Given the description of an element on the screen output the (x, y) to click on. 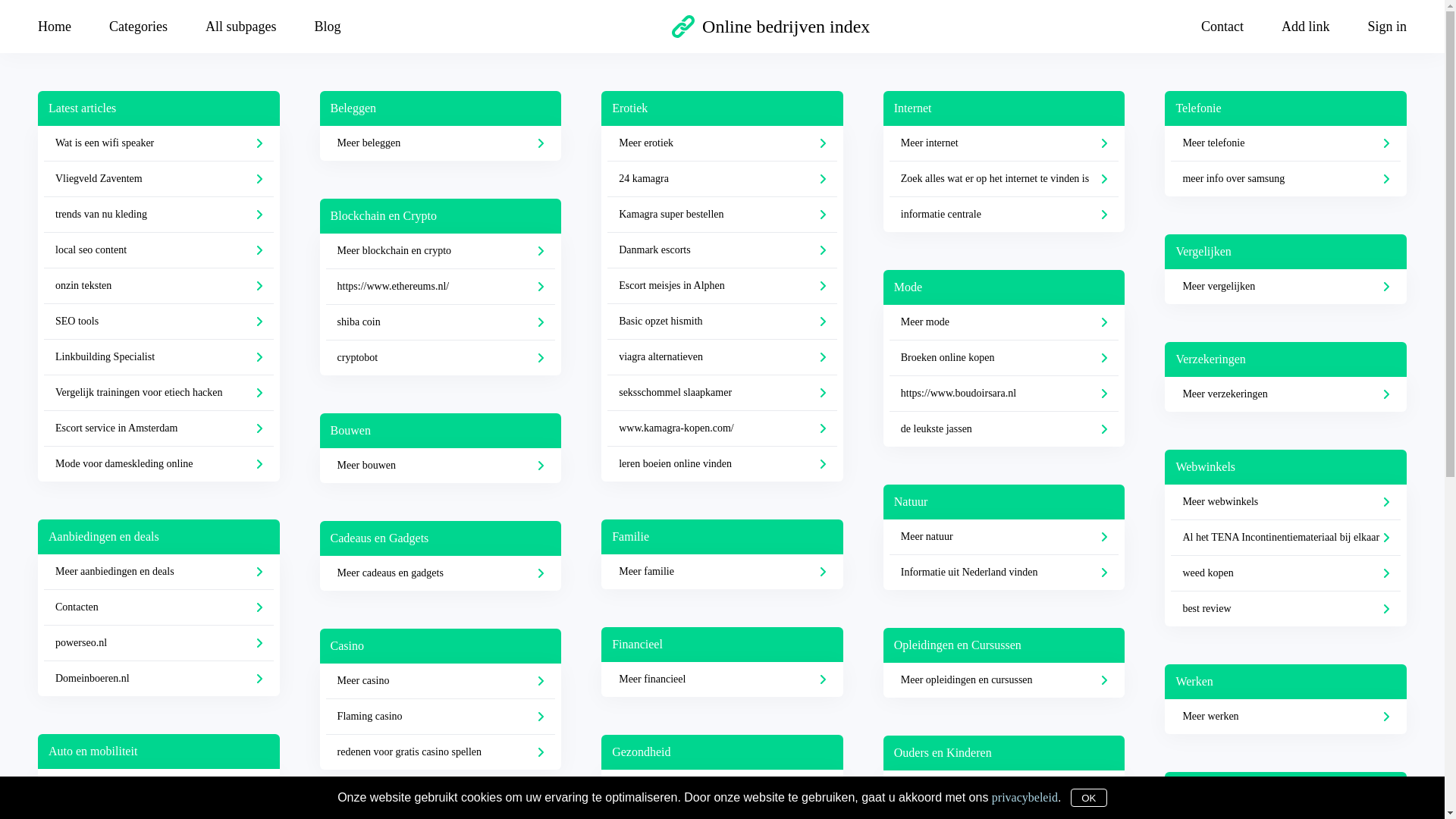
Meer blockchain en crypto Element type: text (440, 251)
Meer verzekeringen Element type: text (1285, 393)
Meer casino Element type: text (440, 681)
meer info over samsung Element type: text (1285, 178)
Contacten Element type: text (158, 607)
Meer webwinkels Element type: text (1285, 502)
Blog Element type: text (326, 25)
SEO tools Element type: text (158, 321)
trends van nu kleding Element type: text (158, 214)
Terms & Conditions Element type: text (768, 803)
Contact Element type: text (1222, 25)
powerseo.nl Element type: text (158, 643)
weed kopen Element type: text (1285, 573)
Escort meisjes in Alphen Element type: text (722, 286)
Informatie uit Nederland vinden Element type: text (1004, 572)
Meer bouwen Element type: text (440, 465)
Meer telefonie Element type: text (1285, 143)
cryptobot Element type: text (440, 357)
Meer internet Element type: text (1004, 143)
redenen voor gratis casino spellen Element type: text (440, 751)
www.kamagra-kopen.com/ Element type: text (722, 428)
Home Element type: text (63, 25)
OK Element type: text (1088, 797)
viagra alternatieven Element type: text (722, 357)
Flaming casino Element type: text (440, 716)
Meer vergelijken Element type: text (1285, 286)
Al het TENA Incontinentiemateriaal bij elkaar Element type: text (1285, 537)
Meer natuur Element type: text (1004, 537)
Online bedrijven index Element type: text (770, 26)
Wat is een wifi speaker Element type: text (158, 143)
leren boeien online vinden Element type: text (722, 463)
informatie centrale Element type: text (1004, 214)
Categories Element type: text (138, 25)
de leukste jassen Element type: text (1004, 428)
Meer werken Element type: text (1285, 716)
Domeinboeren.nl Element type: text (158, 678)
Linkbuilding Specialist Element type: text (158, 357)
Mode voor dameskleding online Element type: text (158, 463)
Escort service in Amsterdam Element type: text (158, 428)
Add link Element type: text (1305, 25)
Meer beleggen Element type: text (440, 142)
Meer auto en mobiliteit Element type: text (158, 785)
Meer ouders en kinderen Element type: text (1004, 787)
best review Element type: text (1285, 608)
24 kamagra Element type: text (722, 179)
Meer mode Element type: text (1004, 322)
Meer erotiek Element type: text (722, 143)
Sign in Element type: text (1377, 25)
Meer gezondheid Element type: text (722, 787)
privacybeleid Element type: text (1024, 796)
onzin teksten Element type: text (158, 286)
local seo content Element type: text (158, 250)
aecm.be Element type: text (649, 803)
seksschommel slaapkamer Element type: text (722, 393)
Vergelijk trainingen voor etiech hacken Element type: text (158, 393)
https://www.boudoirsara.nl Element type: text (1004, 393)
All subpages Element type: text (240, 25)
Meer financieel Element type: text (722, 679)
Basic opzet hismith Element type: text (722, 321)
Privacy Policy Element type: text (697, 803)
Meer cadeaus en gadgets Element type: text (440, 572)
Zoek alles wat er op het internet te vinden is Element type: text (1004, 179)
Danmark escorts Element type: text (722, 250)
Meer aanbiedingen en deals Element type: text (158, 571)
Meer opleidingen en cursussen Element type: text (1004, 679)
https://www.ethereums.nl/ Element type: text (440, 286)
Vliegveld Zaventem Element type: text (158, 179)
Meer familie Element type: text (722, 571)
Contact Element type: text (825, 803)
Broeken online kopen Element type: text (1004, 358)
shiba coin Element type: text (440, 322)
Kamagra super bestellen Element type: text (722, 214)
